Given the description of an element on the screen output the (x, y) to click on. 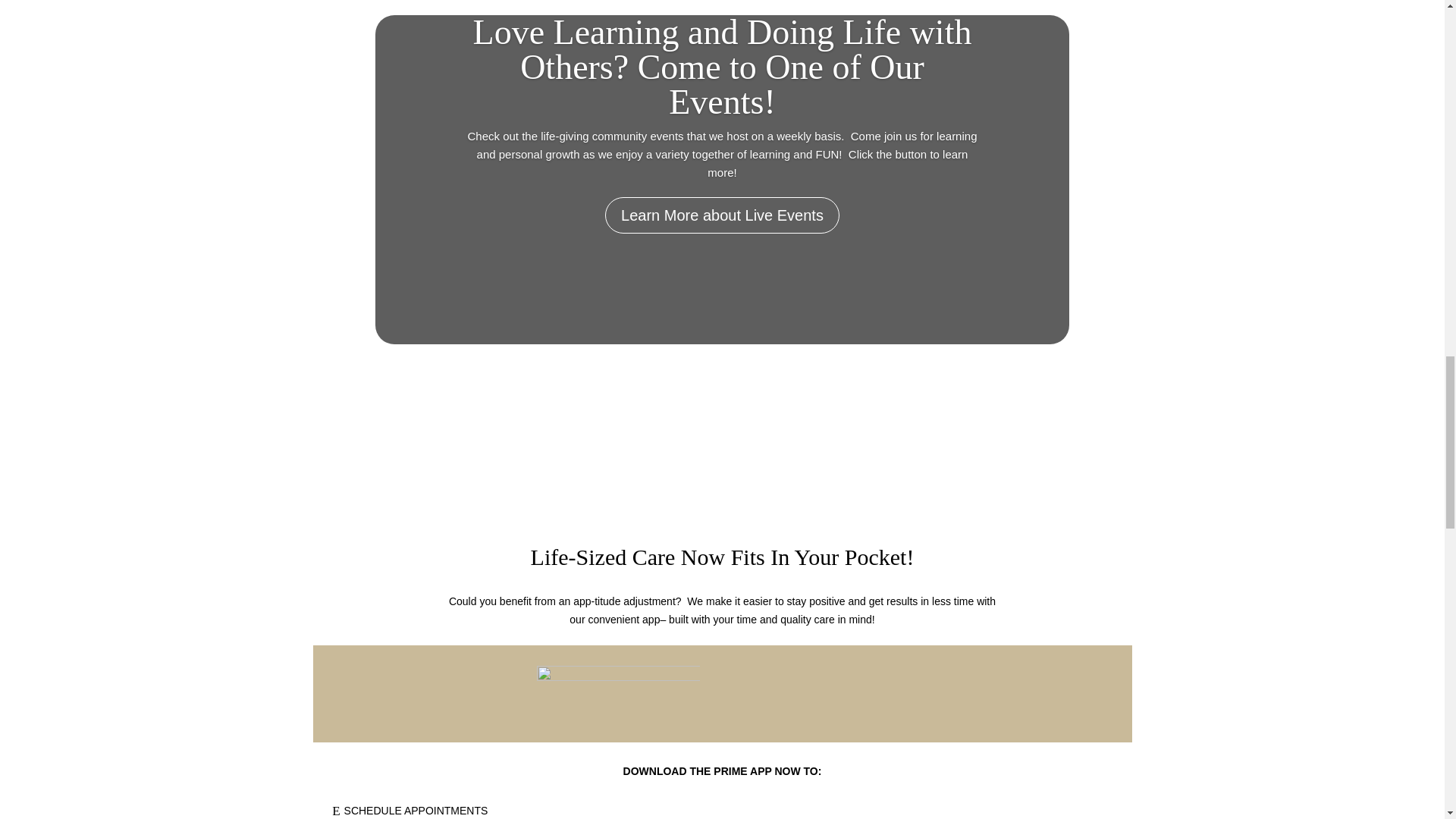
Learn More about Live Events (722, 217)
Android-app-on-Google-play-logo-vector-2 (617, 693)
